Given the description of an element on the screen output the (x, y) to click on. 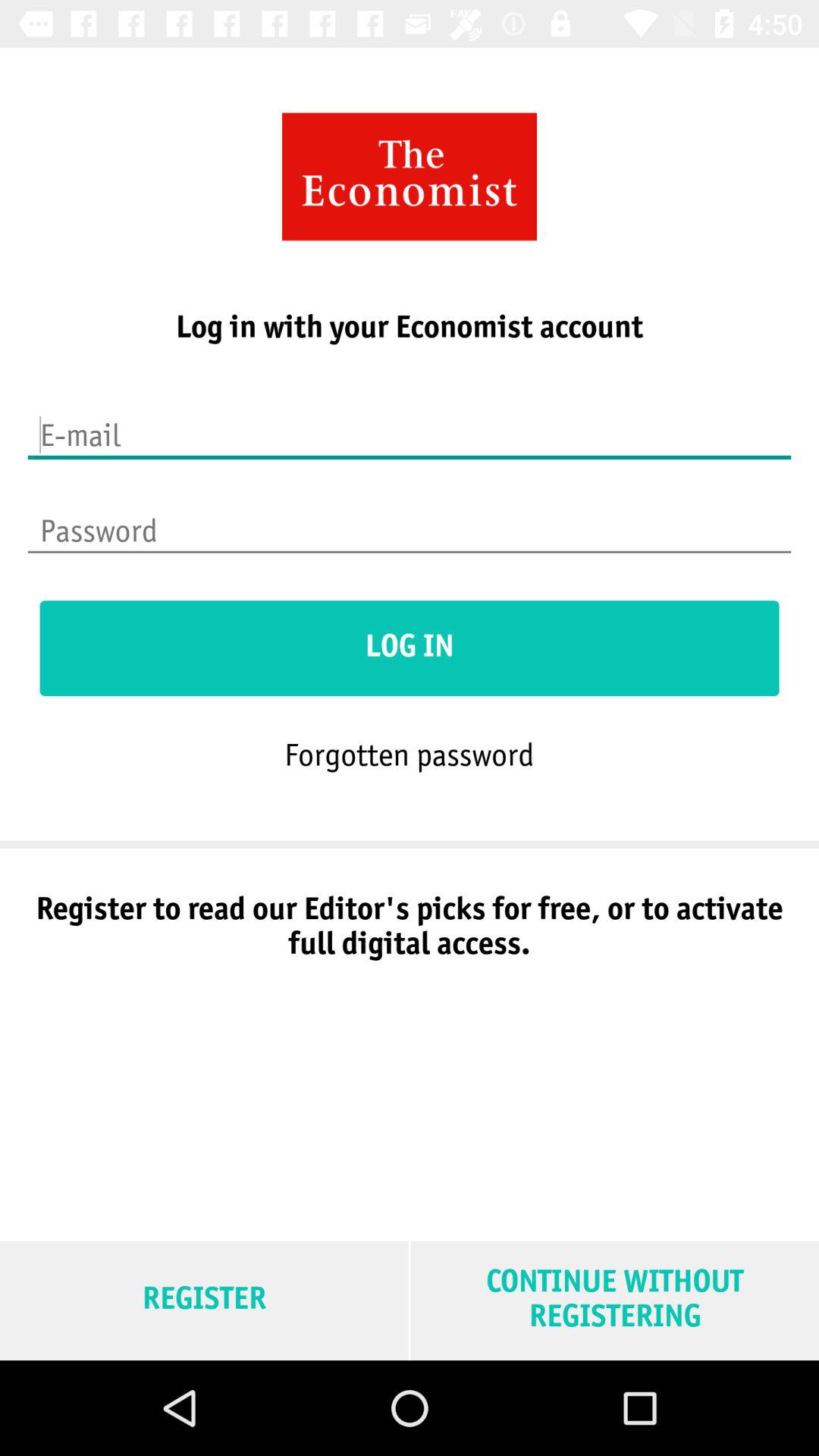
turn on the item to the right of the register item (614, 1300)
